Given the description of an element on the screen output the (x, y) to click on. 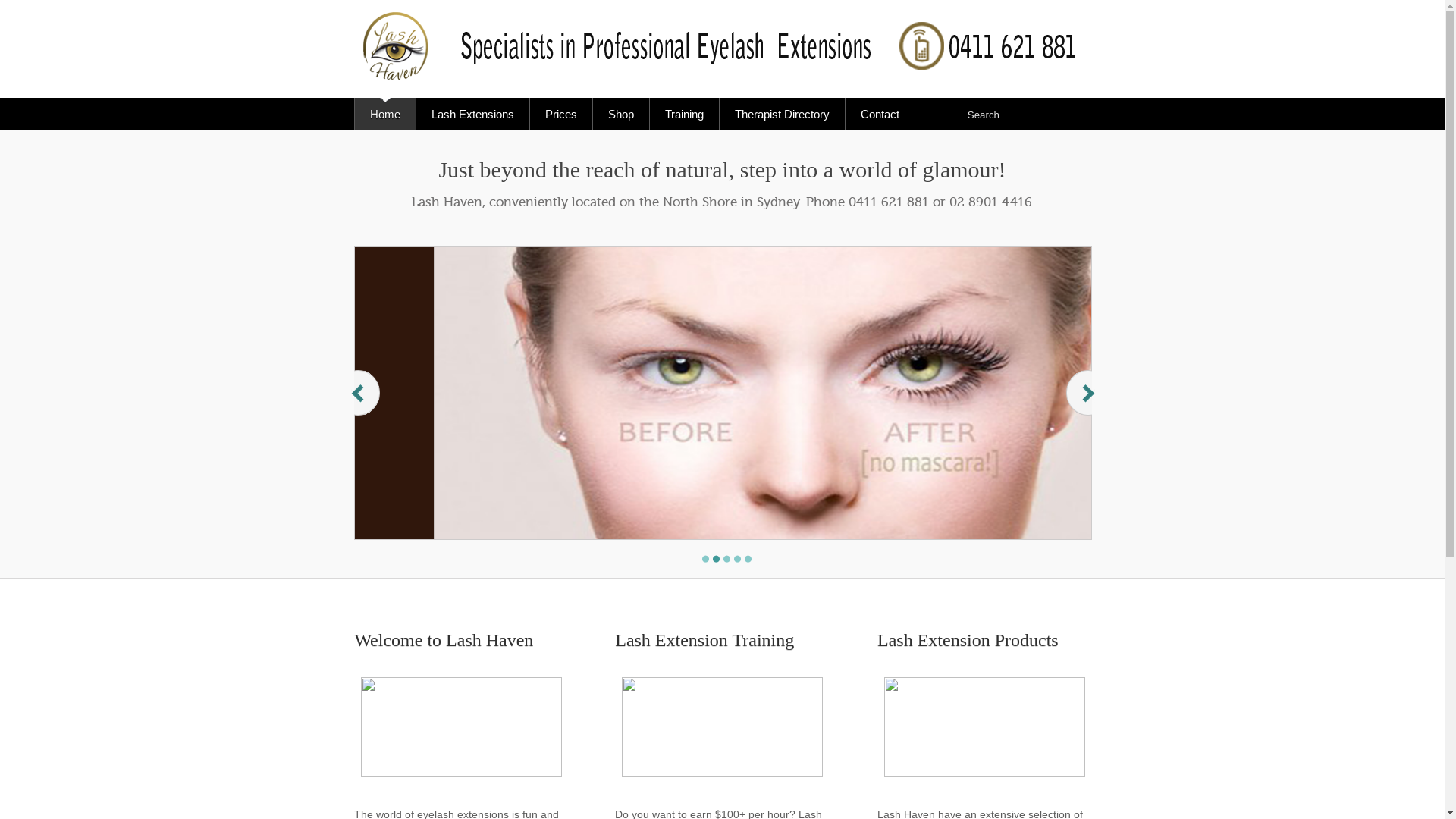
Training Element type: text (683, 113)
Lash Extension Products Element type: text (983, 684)
Lash Extension Training Element type: text (727, 684)
Prices Element type: text (560, 113)
1 Element type: text (705, 558)
Shop Element type: text (620, 113)
Next Element type: text (1082, 407)
Lash Extensions Element type: text (472, 113)
Home Element type: text (384, 113)
2 Element type: text (715, 558)
4 Element type: text (737, 558)
5 Element type: text (747, 558)
Therapist Directory Element type: text (781, 113)
Previous Element type: text (366, 407)
3 Element type: text (726, 558)
Welcome to Lash Haven Element type: text (471, 684)
Contact Element type: text (879, 113)
